Given the description of an element on the screen output the (x, y) to click on. 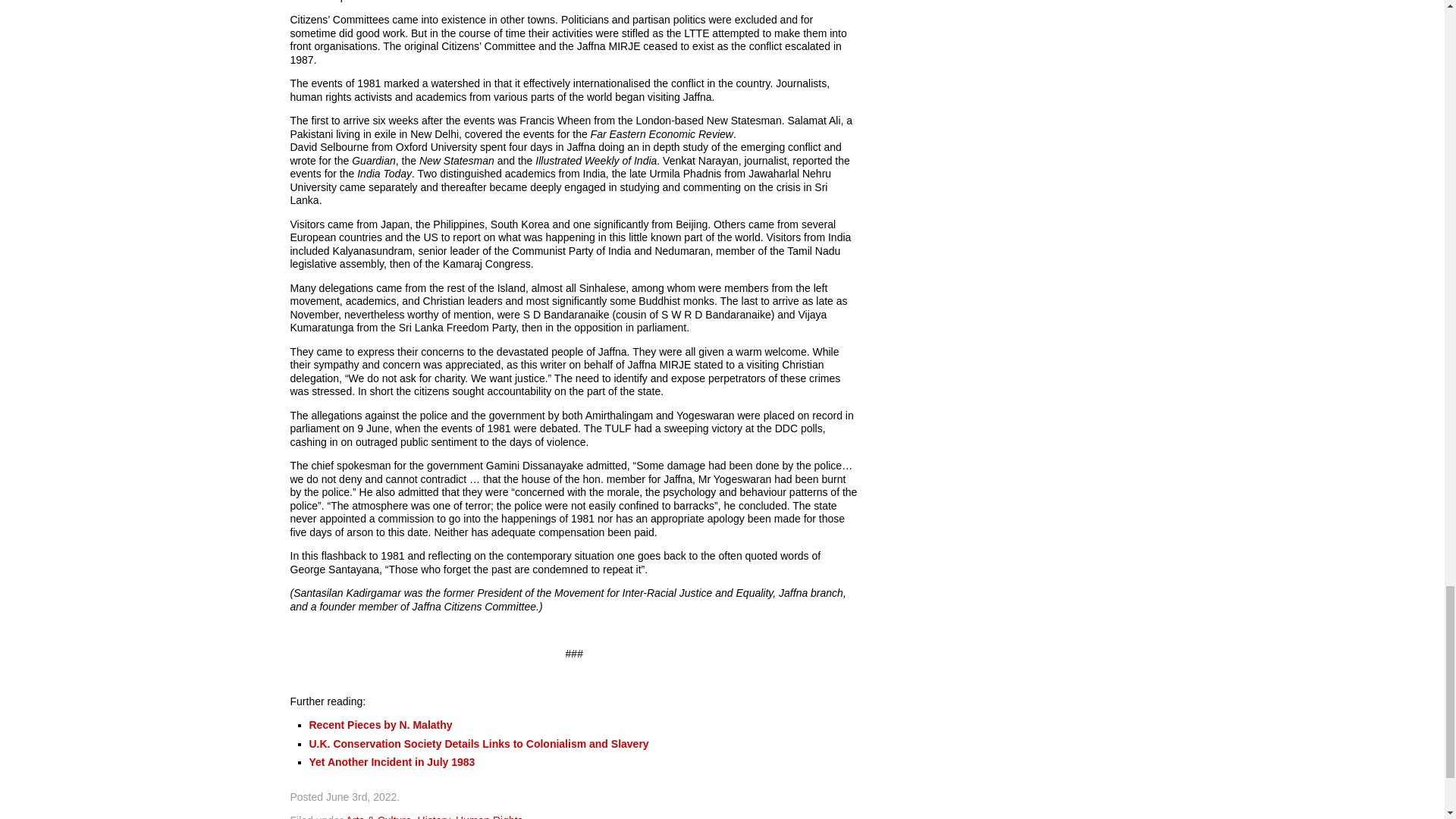
Yet Another Incident in July 1983 (392, 761)
Recent Pieces by N. Malathy (380, 725)
History (433, 816)
Recent Pieces by N. Malathy (380, 725)
Yet Another Incident in July 1983 (392, 761)
Human Rights (488, 816)
